Given the description of an element on the screen output the (x, y) to click on. 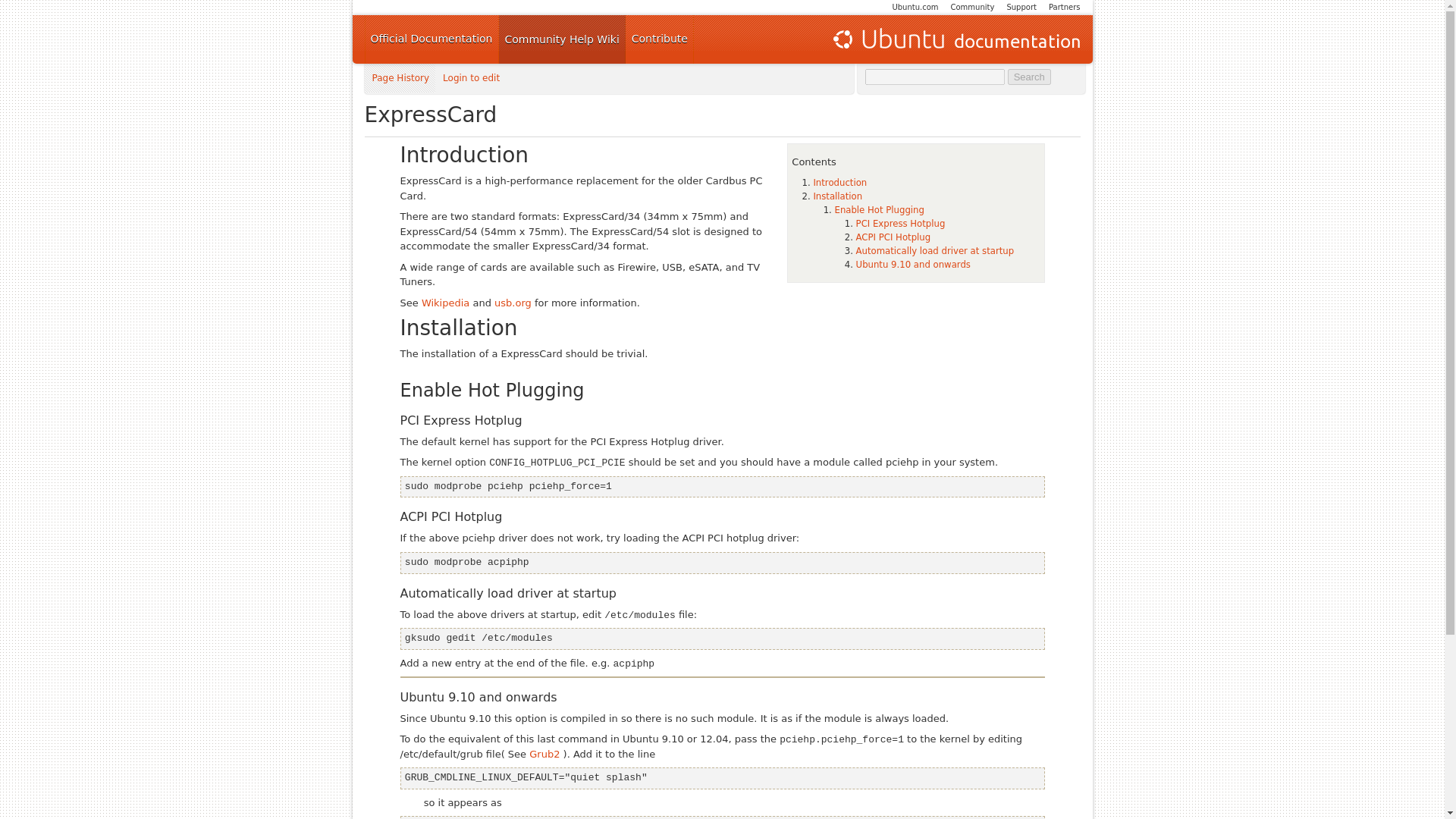
Ubuntu.com (914, 7)
Automatically load driver at startup (935, 250)
Official Documentation (430, 38)
Search (1029, 76)
Contribute (660, 38)
Community Help Wiki (562, 39)
Ubuntu Documentation (954, 39)
Installation (836, 195)
Enable Hot Plugging (878, 209)
Grub2 (544, 754)
